Given the description of an element on the screen output the (x, y) to click on. 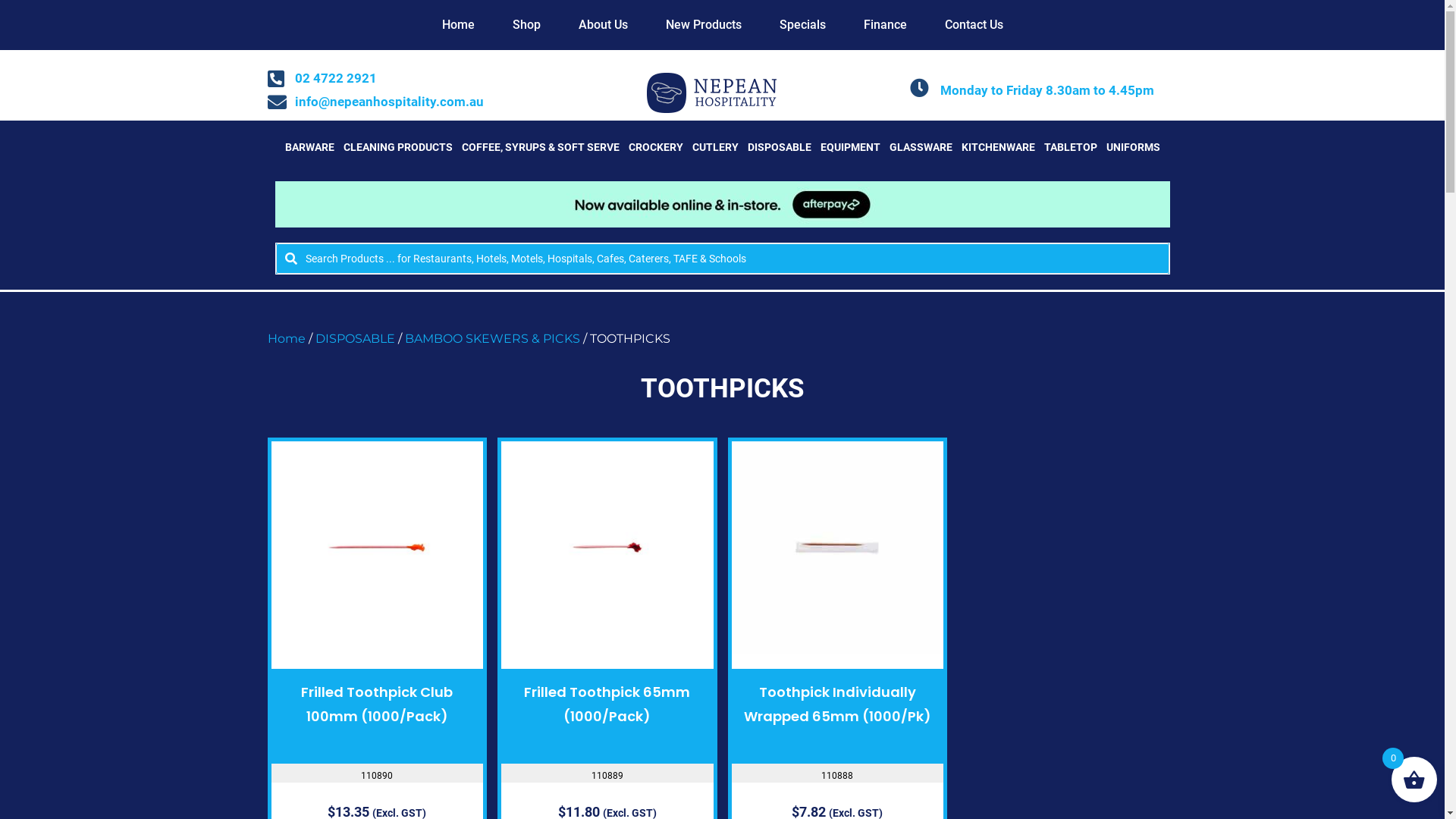
EQUIPMENT Element type: text (849, 147)
TABLETOP Element type: text (1069, 147)
COFFEE, SYRUPS & SOFT SERVE Element type: text (539, 147)
02 4722 2921 Element type: text (413, 78)
Home Element type: text (285, 338)
Frilled Toothpick 65mm (1000/Pack) Element type: text (607, 703)
Frilled Toothpick Club 100mm (1000/Pack) Element type: text (376, 703)
About Us Element type: text (602, 24)
Contact Us Element type: text (973, 24)
BARWARE Element type: text (309, 147)
CROCKERY Element type: text (655, 147)
CUTLERY Element type: text (714, 147)
BAMBOO SKEWERS & PICKS Element type: text (492, 338)
GLASSWARE Element type: text (920, 147)
Finance Element type: text (884, 24)
Home Element type: text (458, 24)
KITCHENWARE Element type: text (998, 147)
Specials Element type: text (801, 24)
DISPOSABLE Element type: text (779, 147)
Shop Element type: text (525, 24)
Toothpick Individually Wrapped 65mm (1000/Pk) Element type: text (837, 703)
New Products Element type: text (702, 24)
info@nepeanhospitality.com.au Element type: text (413, 102)
DISPOSABLE Element type: text (355, 338)
UNIFORMS Element type: text (1132, 147)
CLEANING PRODUCTS Element type: text (397, 147)
